Given the description of an element on the screen output the (x, y) to click on. 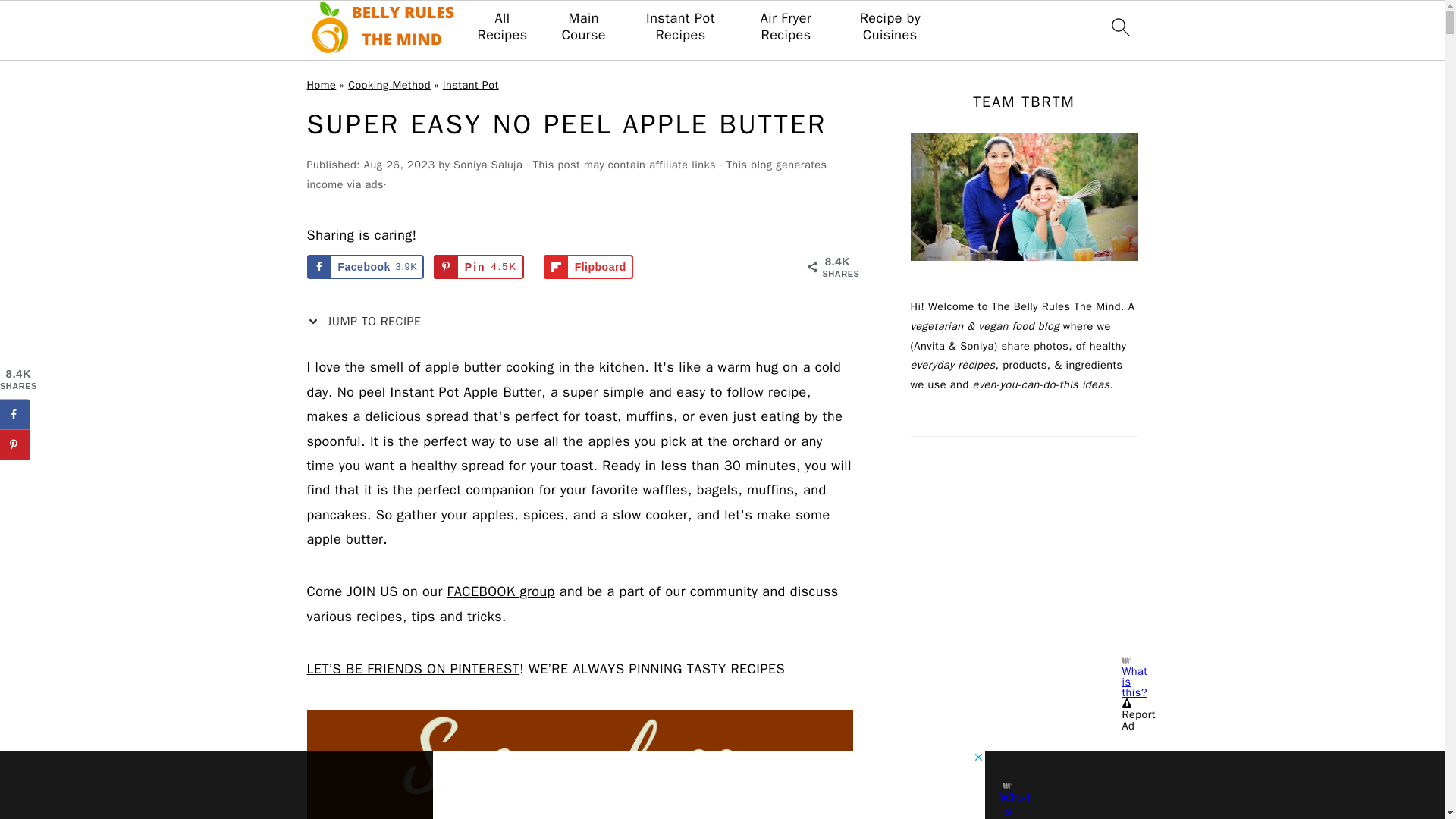
Recipe by Cuisines (889, 26)
Air Fryer Recipes (786, 26)
search icon (1119, 26)
Share on Flipboard (588, 266)
Share on Facebook (364, 266)
Instant Pot Recipes (680, 26)
Main Course (583, 26)
Save to Pinterest (478, 266)
All Recipes (502, 26)
